Given the description of an element on the screen output the (x, y) to click on. 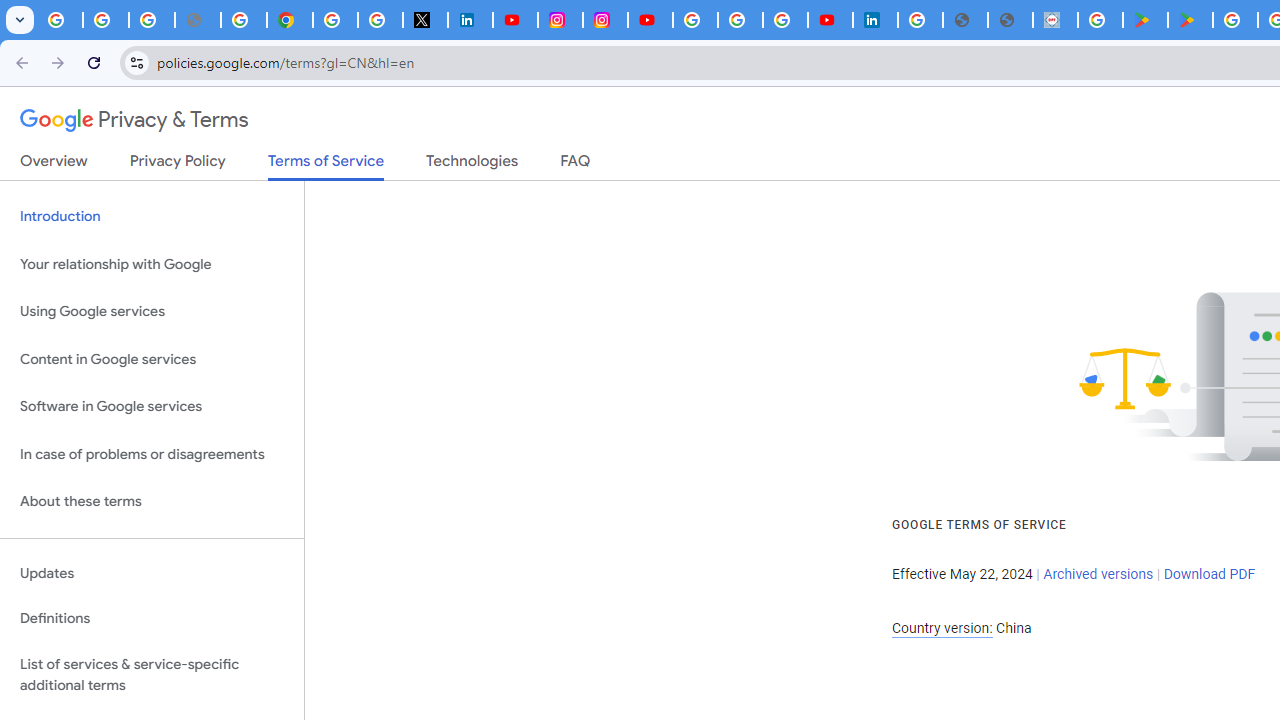
X (425, 20)
Sign in - Google Accounts (695, 20)
Your relationship with Google (152, 263)
PAW Patrol Rescue World - Apps on Google Play (1190, 20)
